Given the description of an element on the screen output the (x, y) to click on. 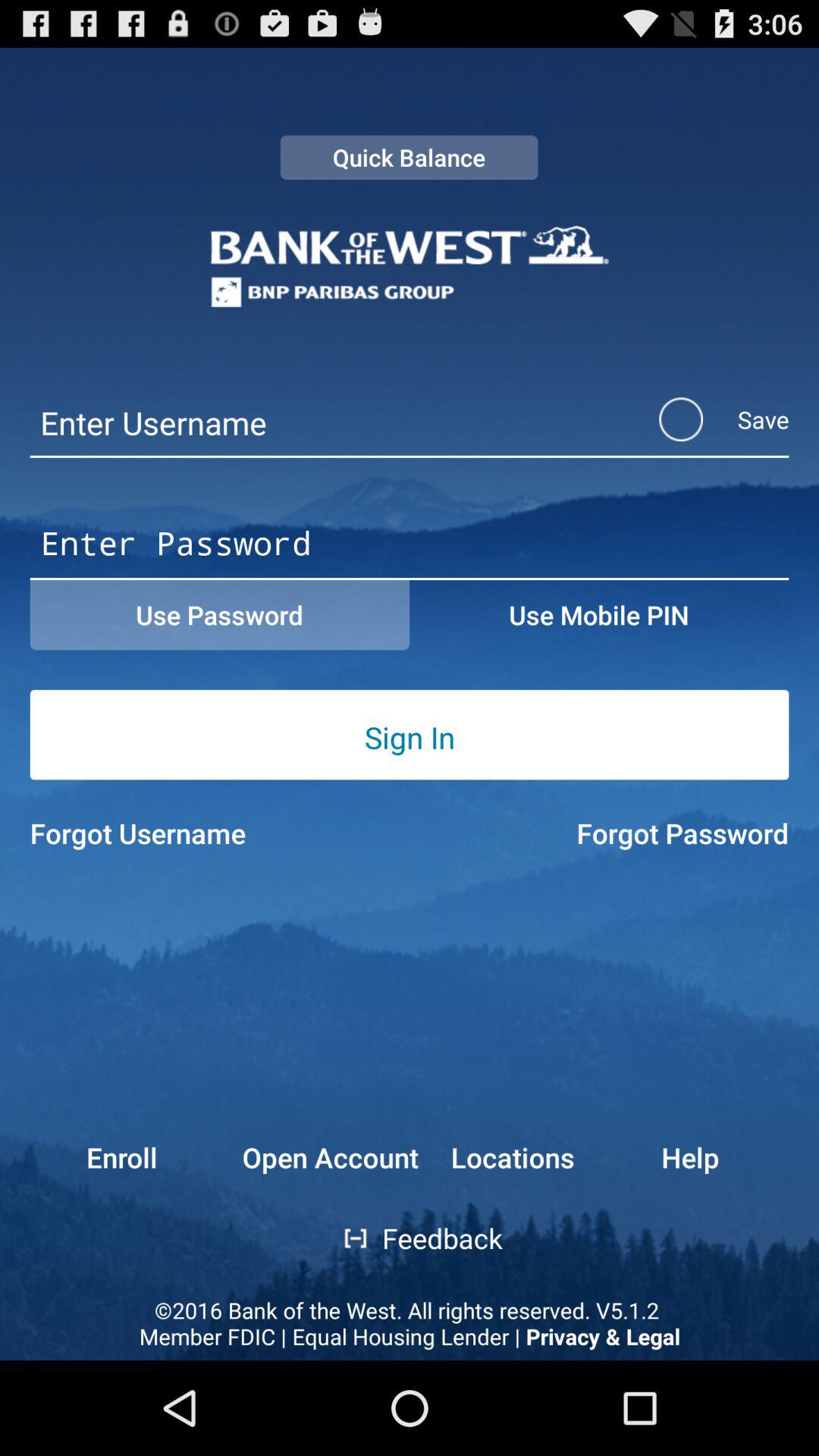
swipe to the open account (330, 1157)
